Given the description of an element on the screen output the (x, y) to click on. 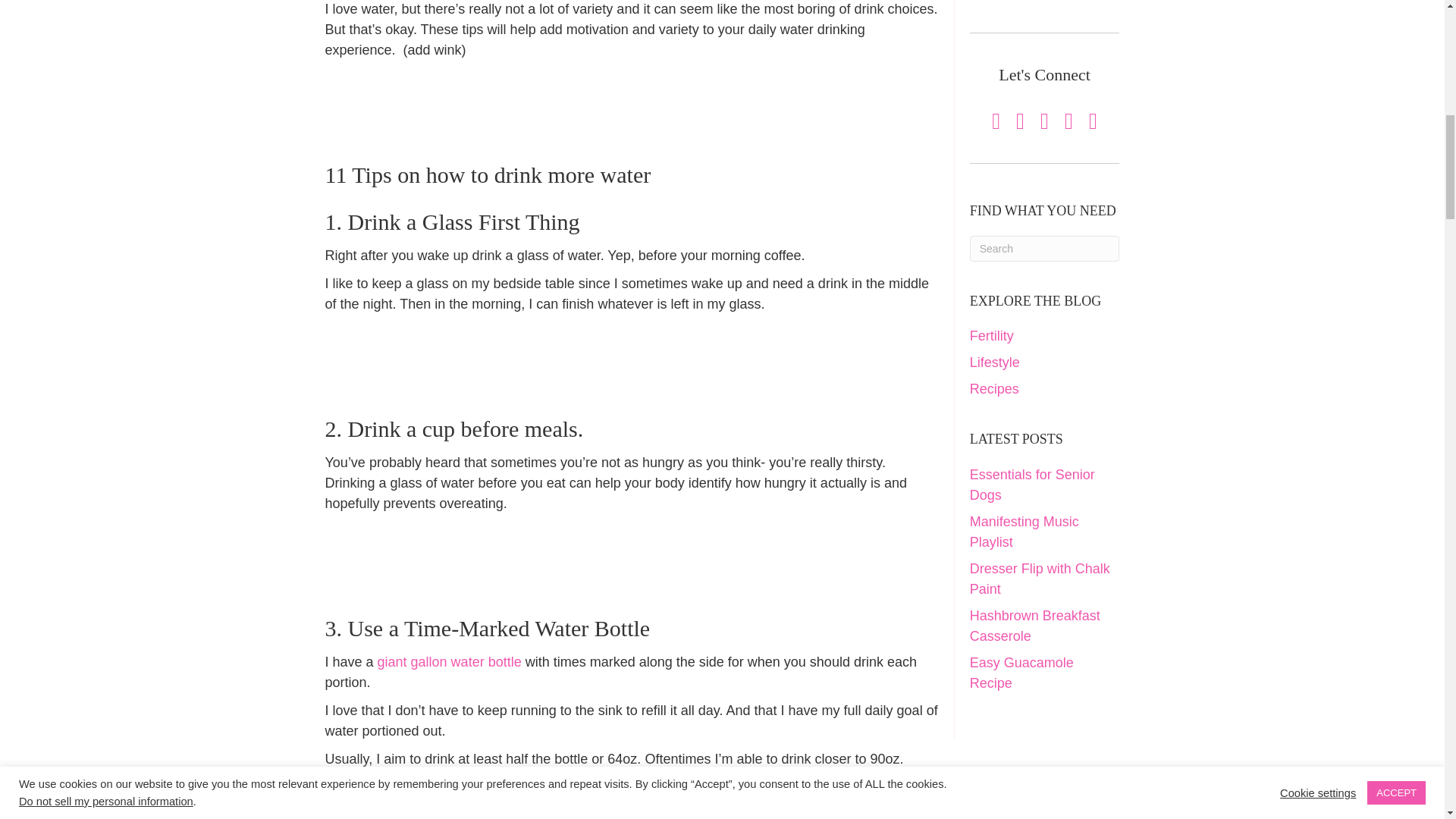
Hashbrown Breakfast Casserole (1034, 625)
Dresser Flip with Chalk Paint (1039, 579)
Easy Guacamole Recipe (1021, 673)
Fertility (991, 335)
Manifesting Music Playlist (1023, 531)
giant gallon water bottle (449, 661)
Lifestyle (994, 362)
giant gallon size (616, 796)
Essentials for Senior Dogs (1031, 484)
Type and press Enter to search. (1044, 248)
Recipes (994, 388)
